Given the description of an element on the screen output the (x, y) to click on. 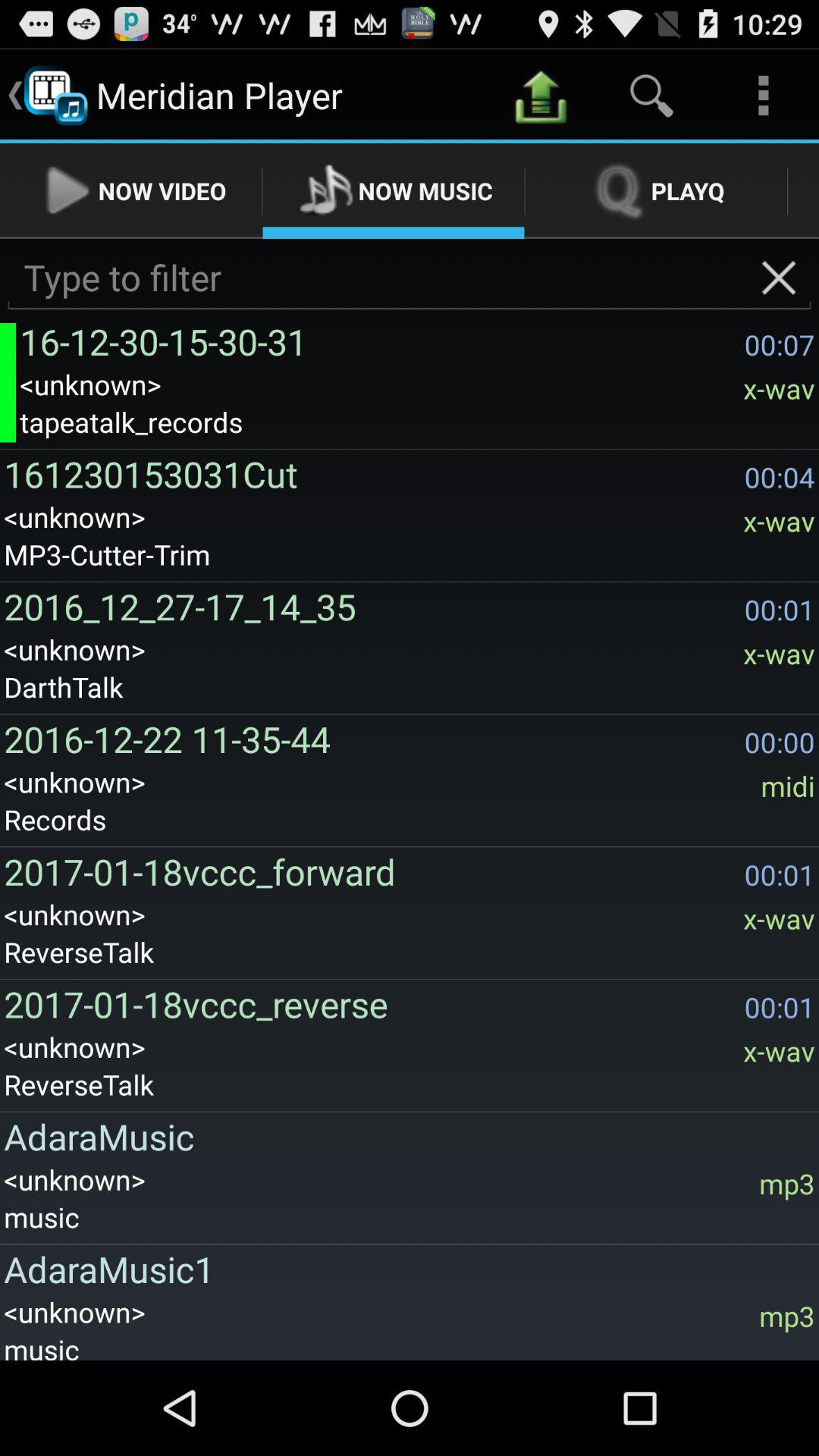
select the icon next to 16 12 30 item (7, 382)
